Given the description of an element on the screen output the (x, y) to click on. 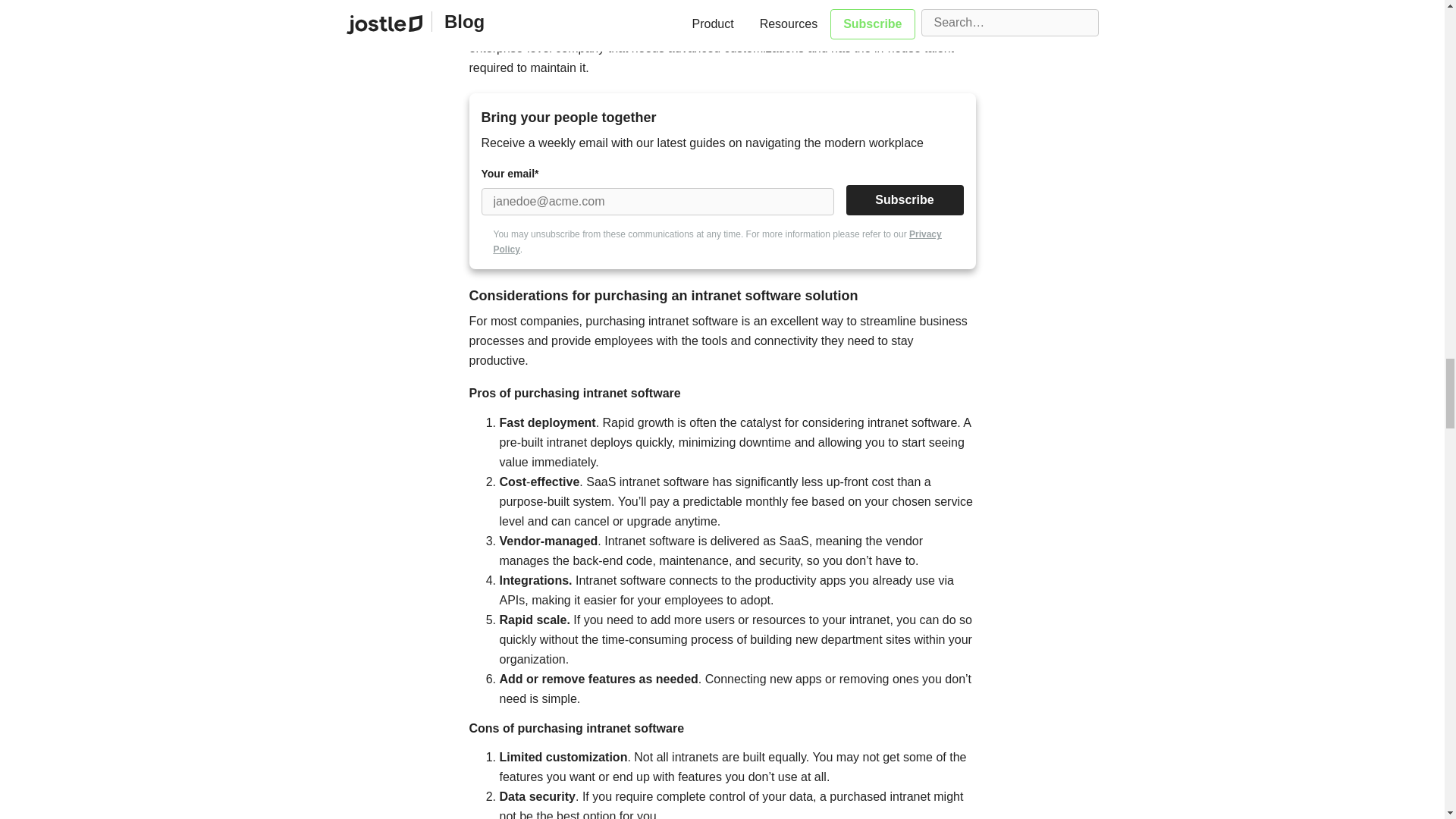
Subscribe (904, 200)
Subscribe (904, 200)
Privacy Policy (716, 241)
